Given the description of an element on the screen output the (x, y) to click on. 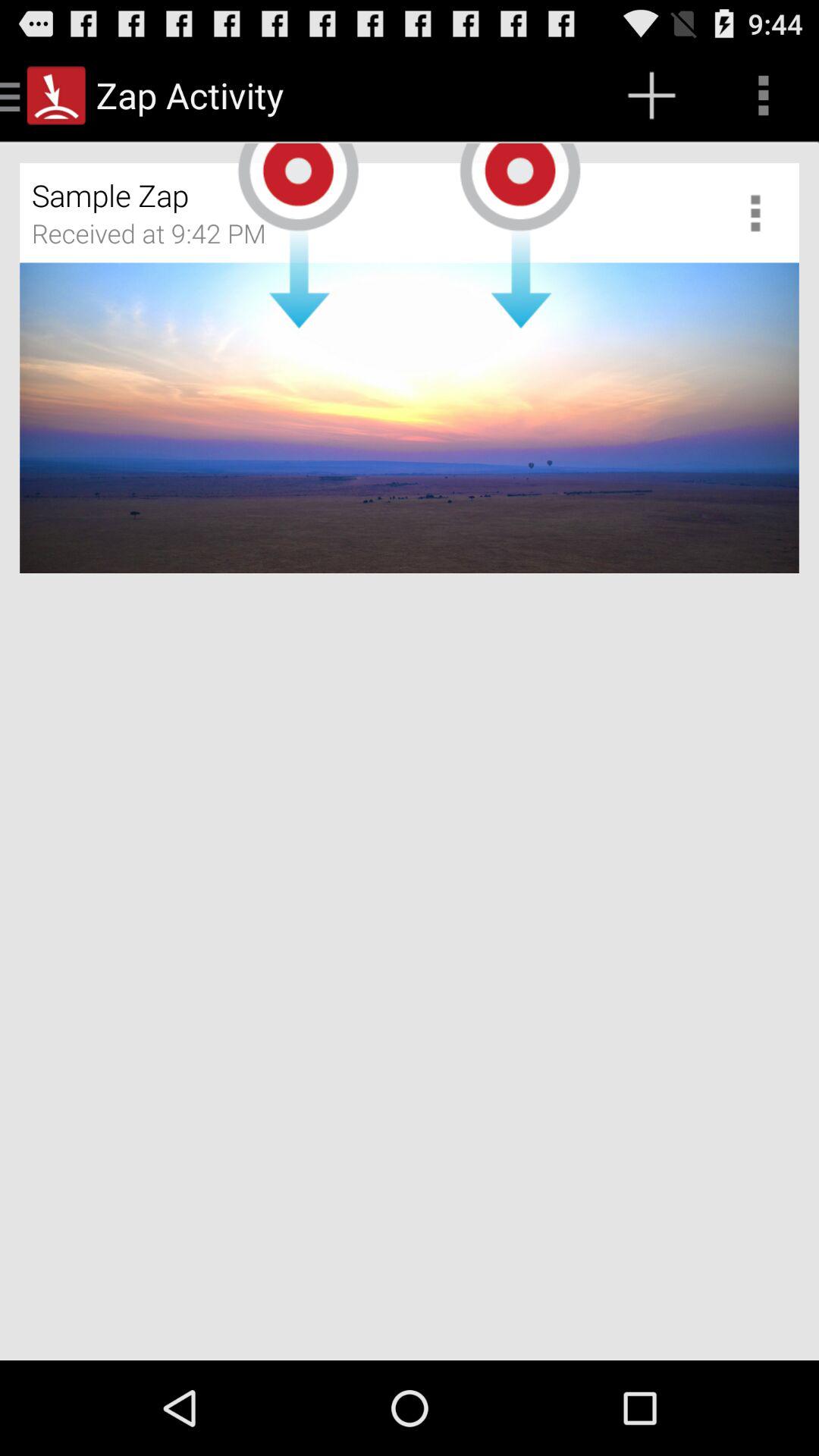
show more (761, 212)
